Given the description of an element on the screen output the (x, y) to click on. 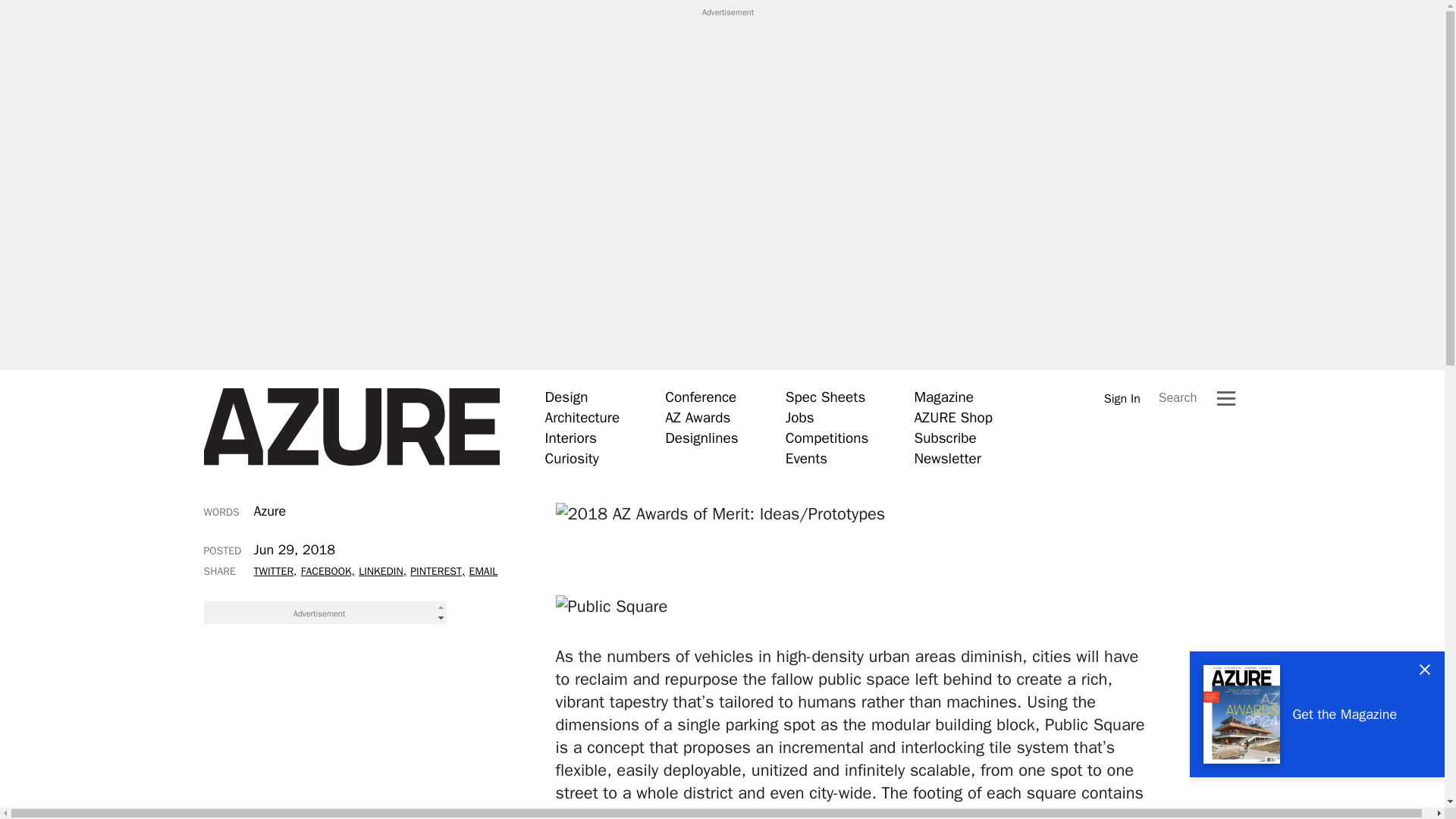
Conference (700, 397)
Magazine (944, 397)
Design (566, 397)
Architecture (582, 417)
AZURE Shop (953, 417)
Curiosity (571, 458)
Subscribe (944, 438)
AZ Awards (697, 417)
Competitions (827, 438)
Search (1178, 397)
